Given the description of an element on the screen output the (x, y) to click on. 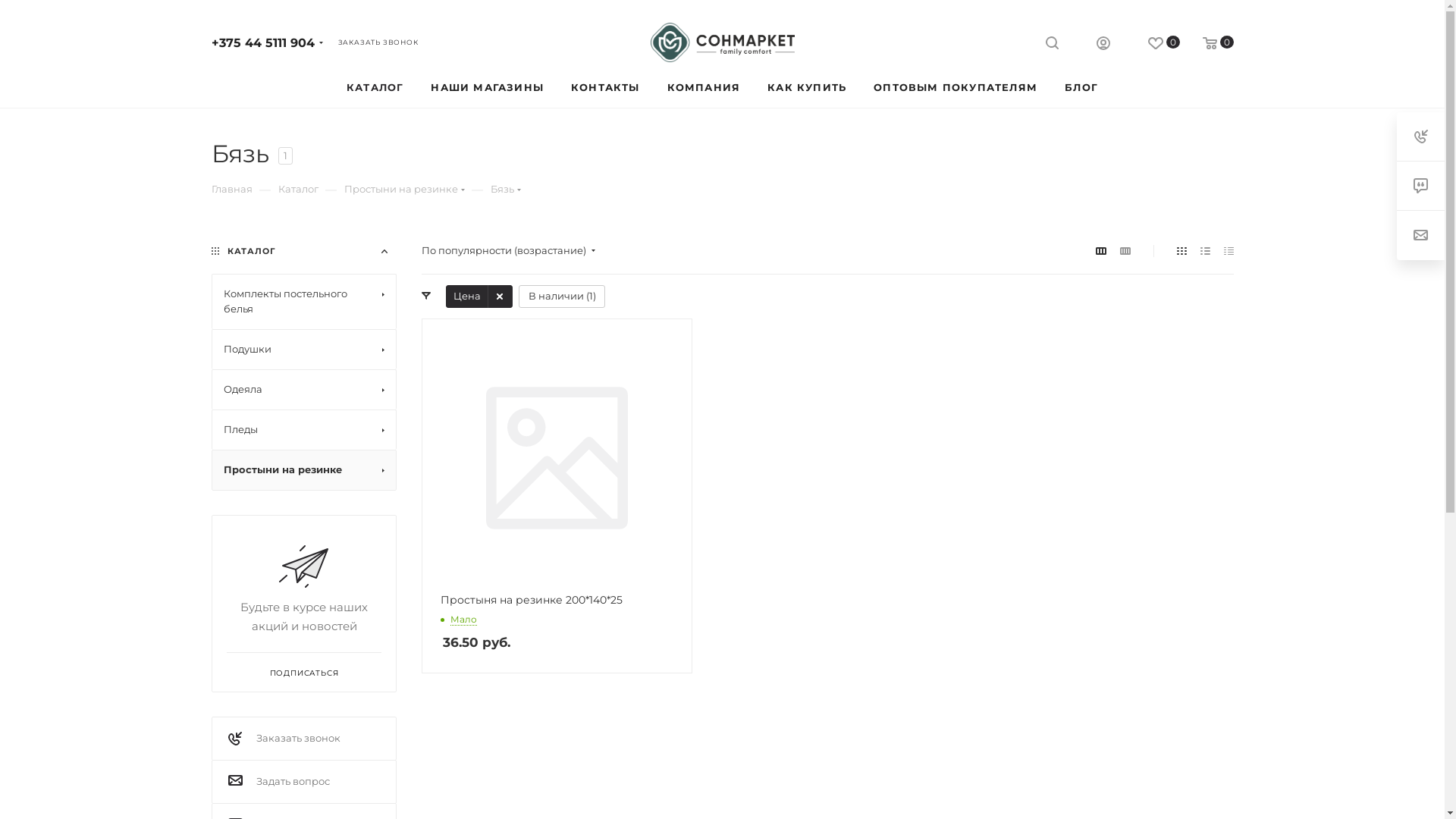
Y Element type: text (4, 4)
+375 44 5111 904 Element type: text (261, 42)
0 Element type: text (1152, 43)
0 Element type: text (1206, 43)
